Given the description of an element on the screen output the (x, y) to click on. 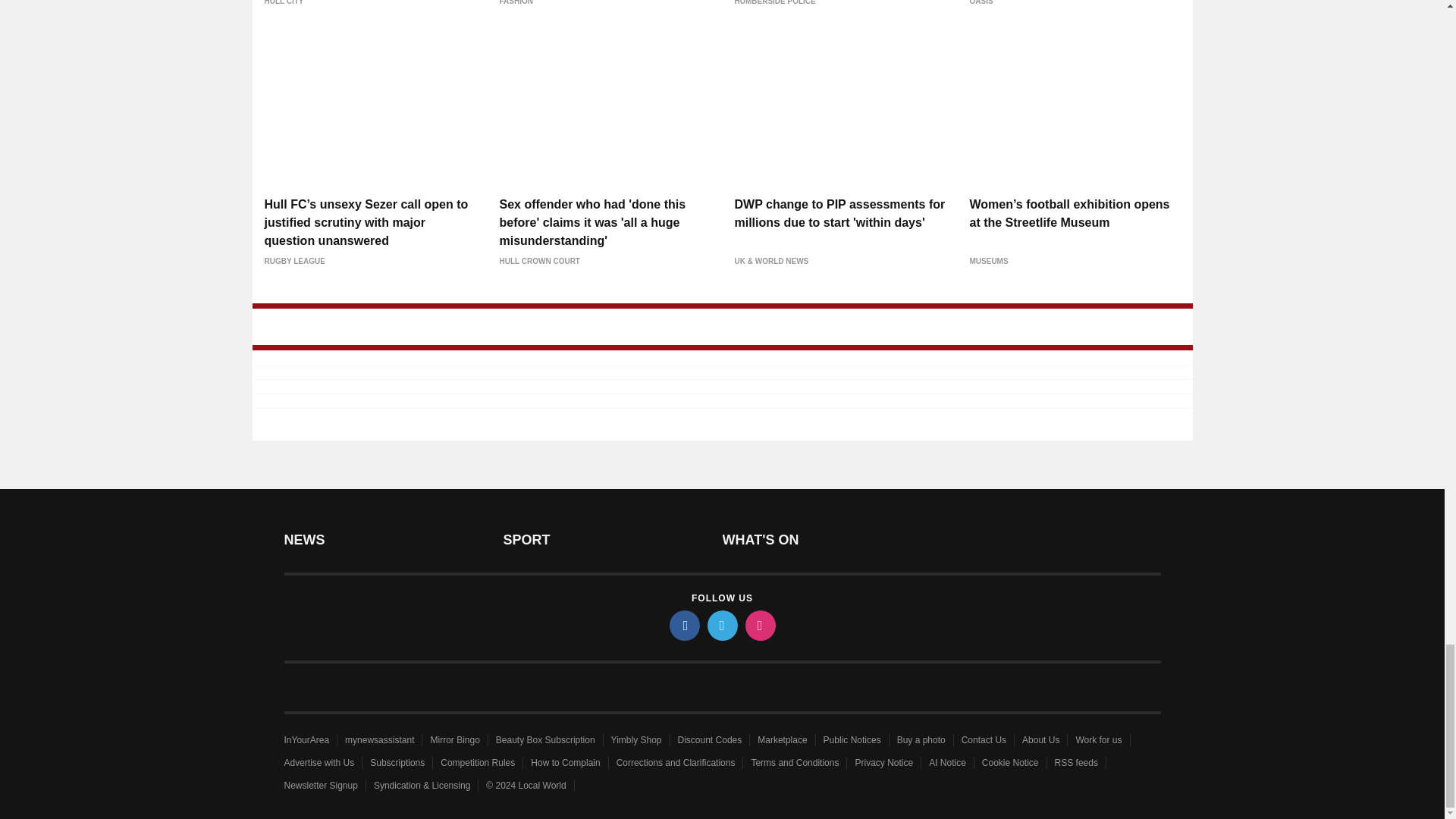
instagram (759, 624)
facebook (683, 624)
twitter (721, 624)
